Given the description of an element on the screen output the (x, y) to click on. 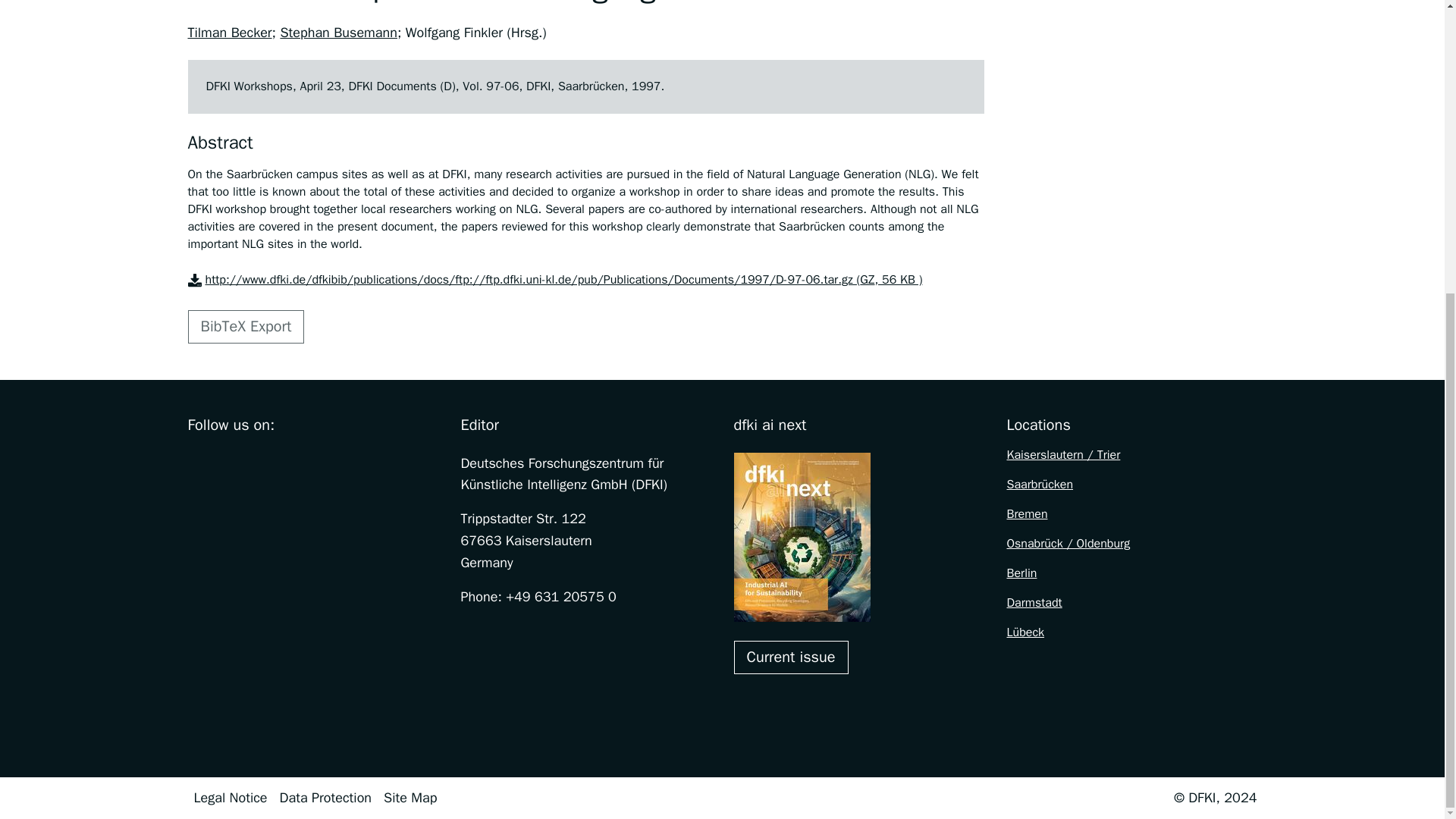
Follow us on: X (260, 462)
Follow us on: Youtube (292, 462)
Follow us on: Instagram (229, 462)
Follow us on: Facebook (197, 462)
Follow us on: LinkedIn (324, 462)
To AI Magazine dfki ai next (790, 657)
